Given the description of an element on the screen output the (x, y) to click on. 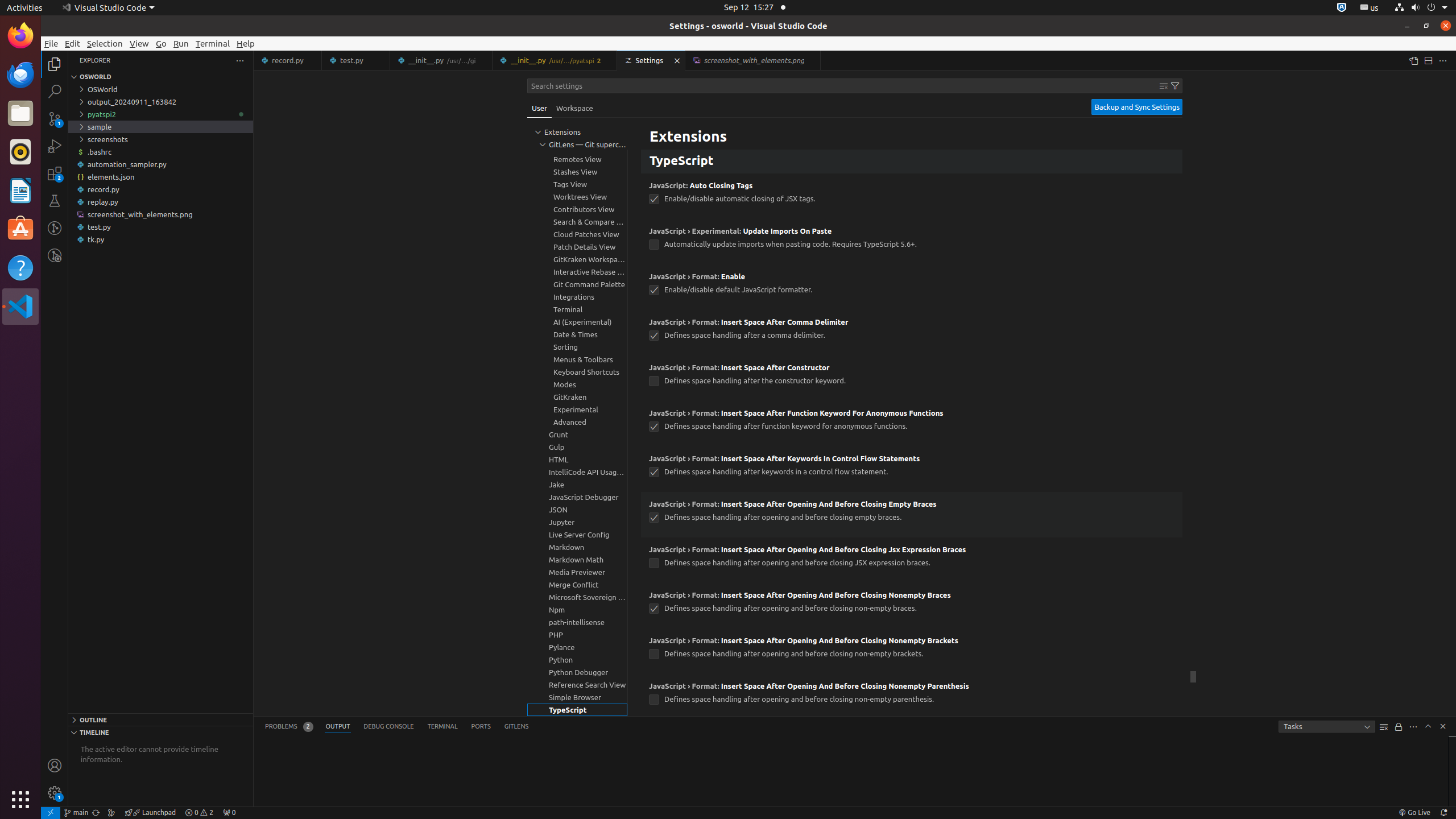
Terminal Element type: push-button (212, 43)
View Element type: push-button (139, 43)
Views and More Actions... Element type: push-button (1413, 726)
Modes, group Element type: tree-item (577, 384)
javascript.format.insertSpaceAfterKeywordsInControlFlowStatements Element type: check-box (653, 471)
